Given the description of an element on the screen output the (x, y) to click on. 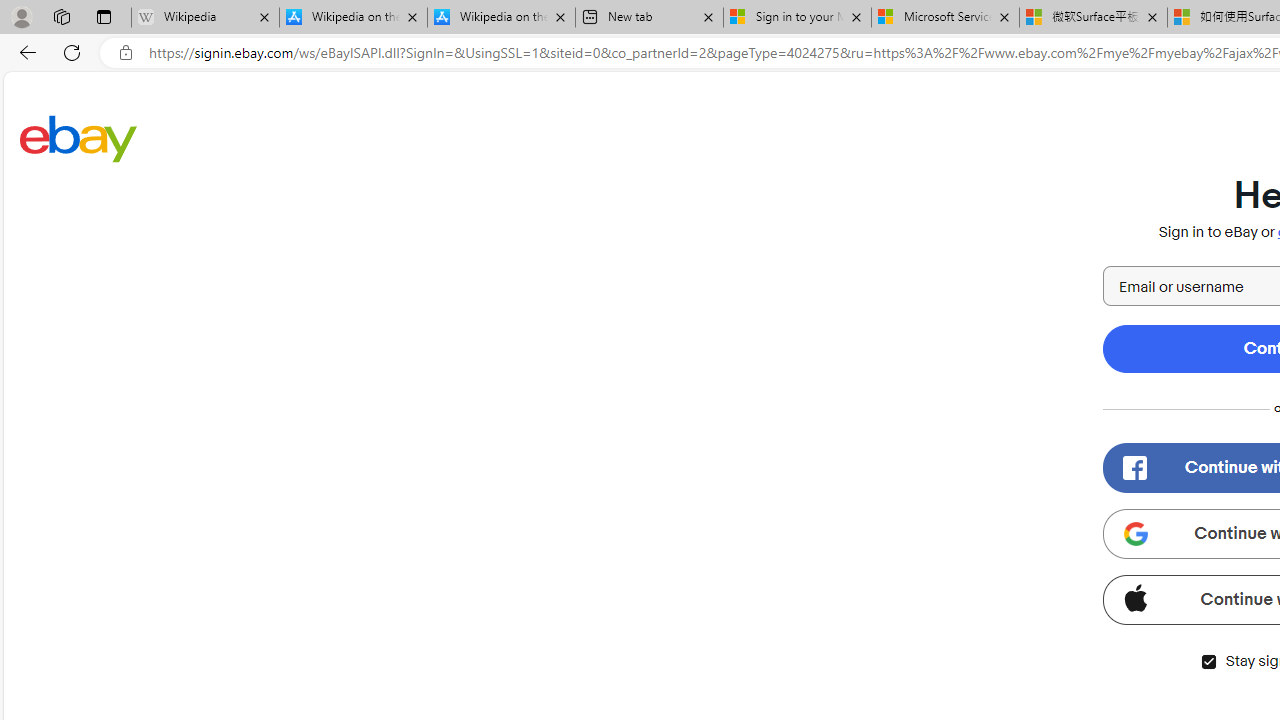
eBay Home (78, 138)
Class: ggl-icon (1135, 533)
